Given the description of an element on the screen output the (x, y) to click on. 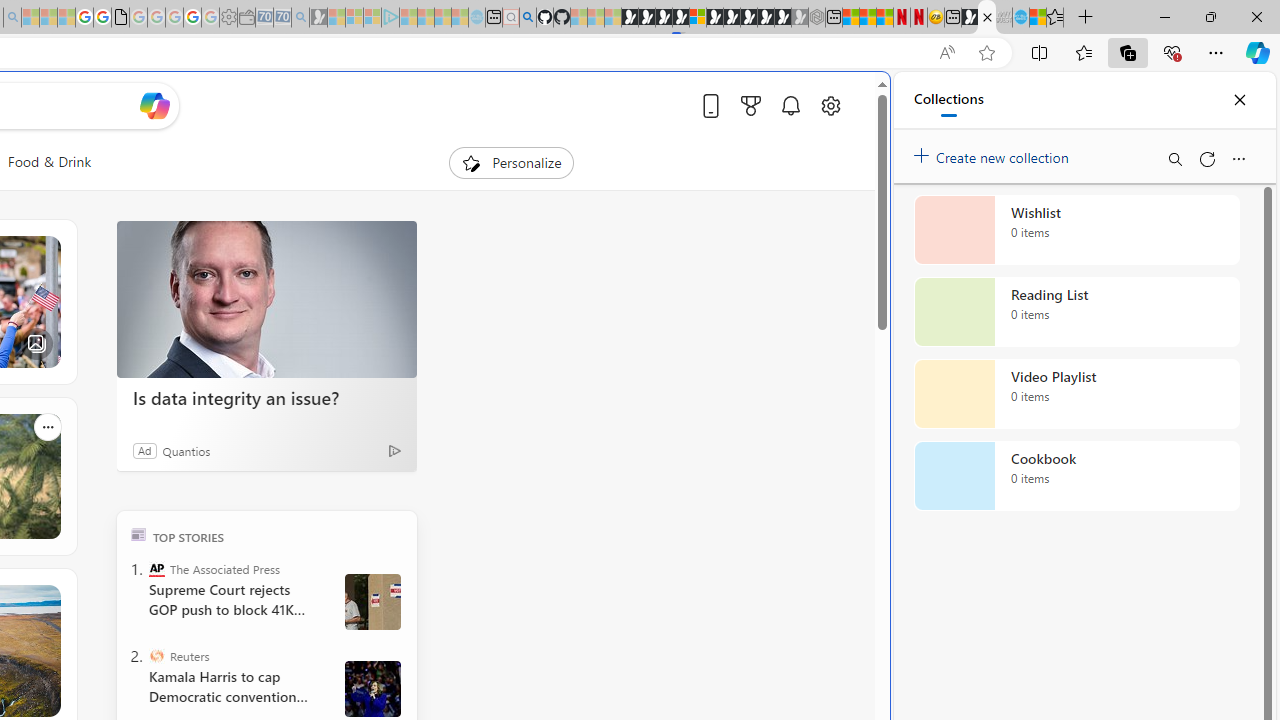
Is data integrity an issue? (266, 299)
Sign in to your account (697, 17)
Quantios (186, 450)
Reading List collection, 0 items (1076, 312)
Tabs you've opened (276, 265)
